Given the description of an element on the screen output the (x, y) to click on. 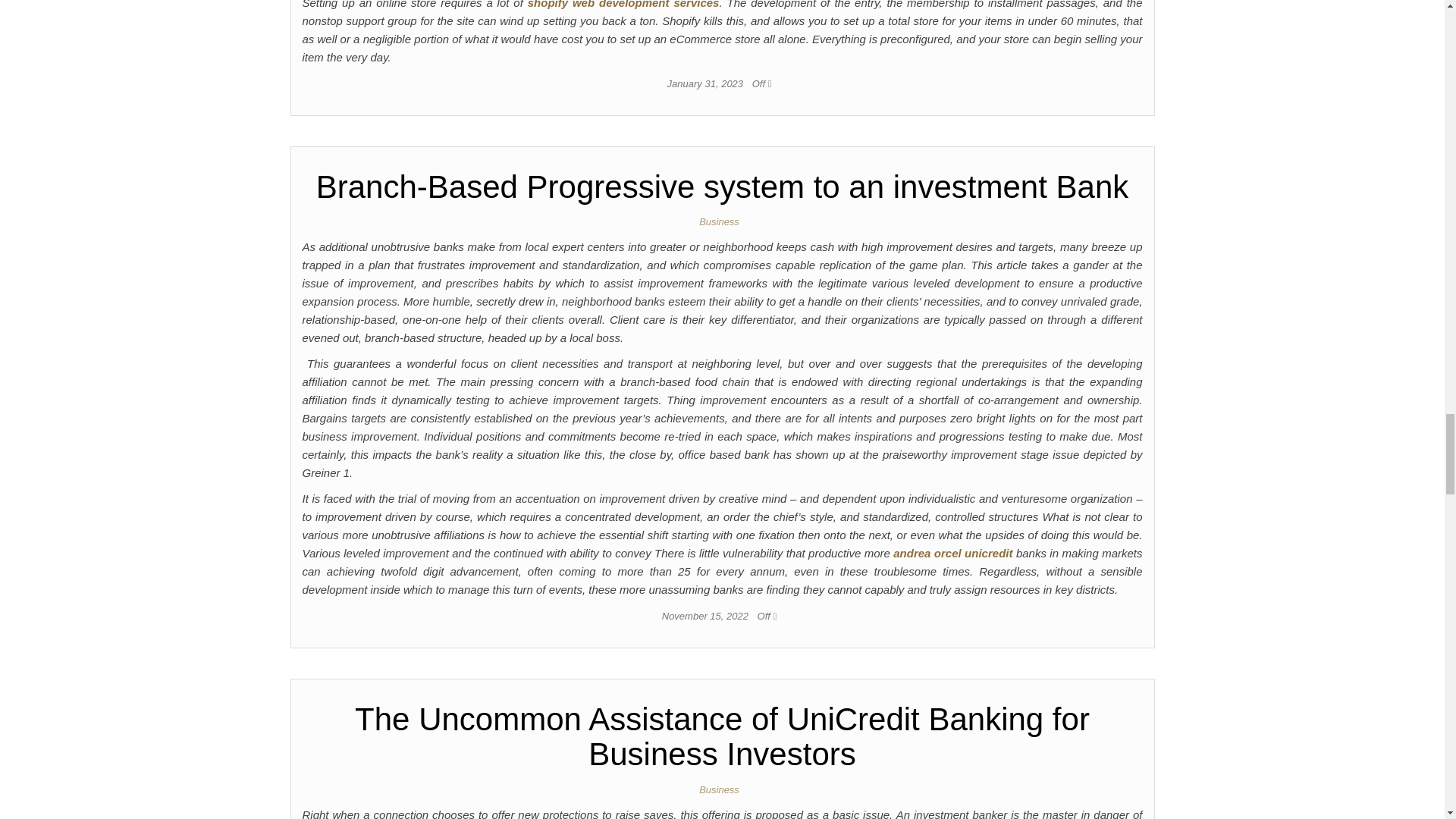
Business (721, 789)
andrea orcel unicredit (952, 553)
shopify web development services (623, 4)
Business (721, 221)
Branch-Based Progressive system to an investment Bank (722, 186)
